Given the description of an element on the screen output the (x, y) to click on. 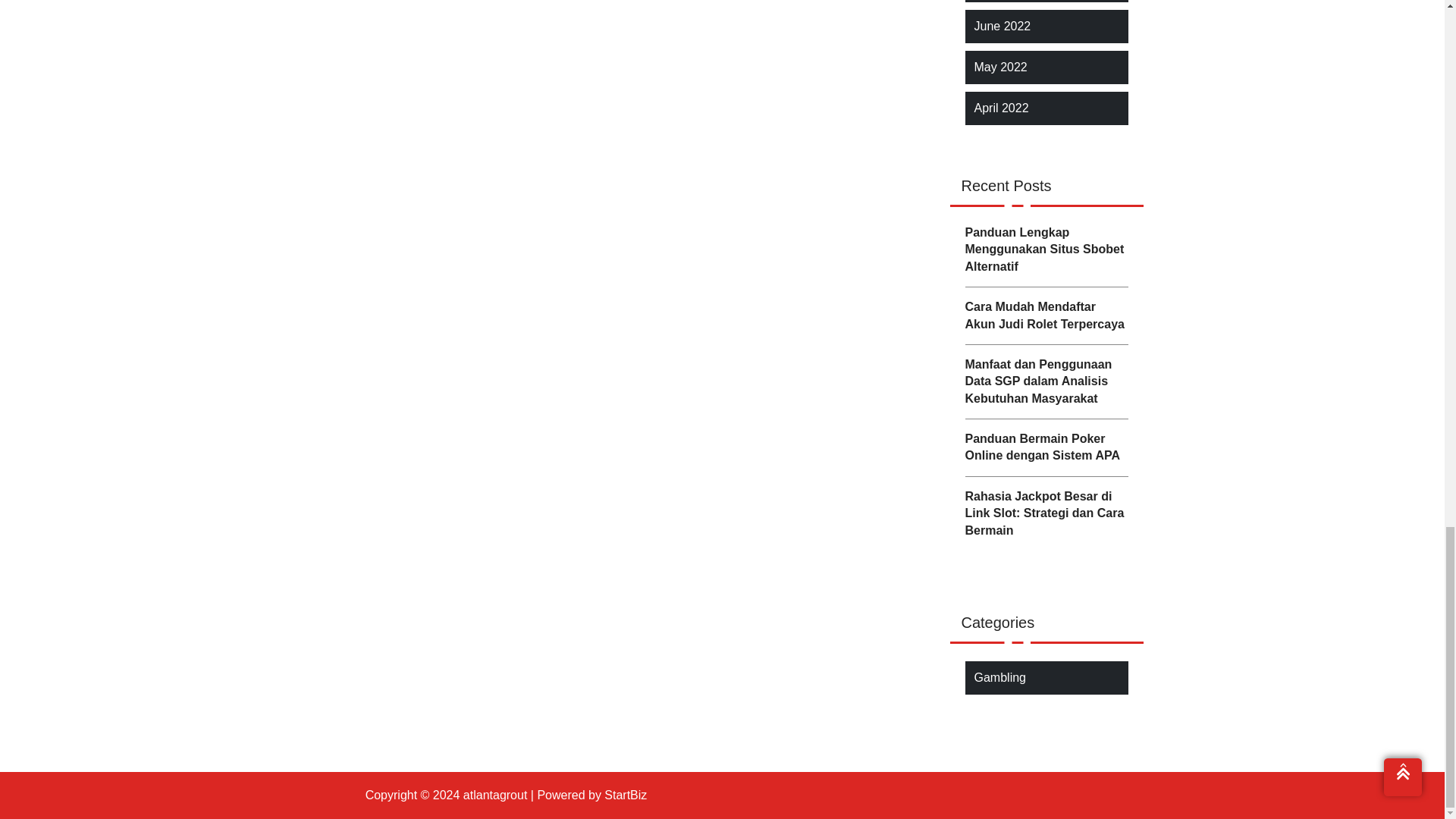
June 2022 (1002, 26)
